Given the description of an element on the screen output the (x, y) to click on. 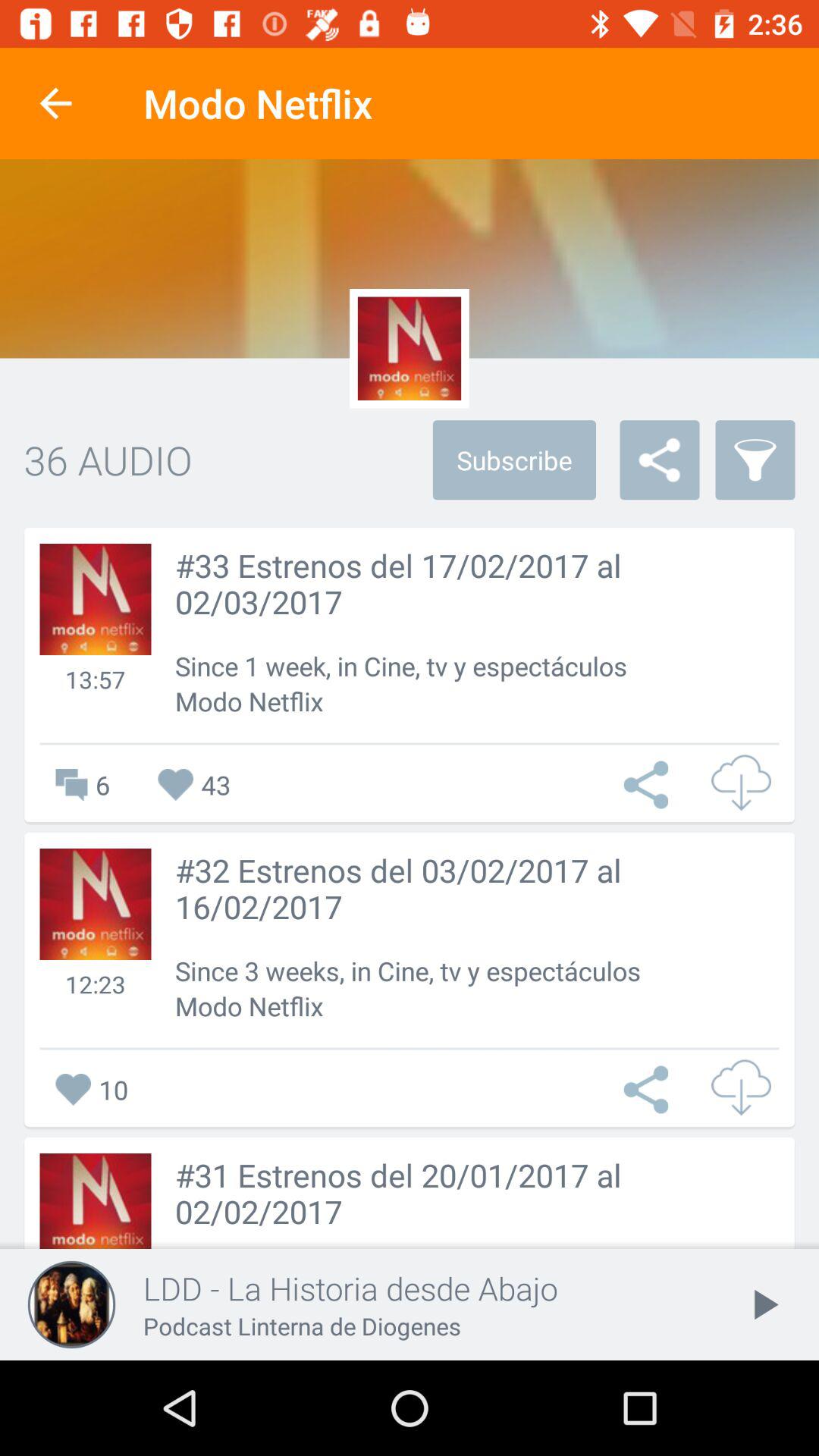
flip until 43 item (194, 784)
